Given the description of an element on the screen output the (x, y) to click on. 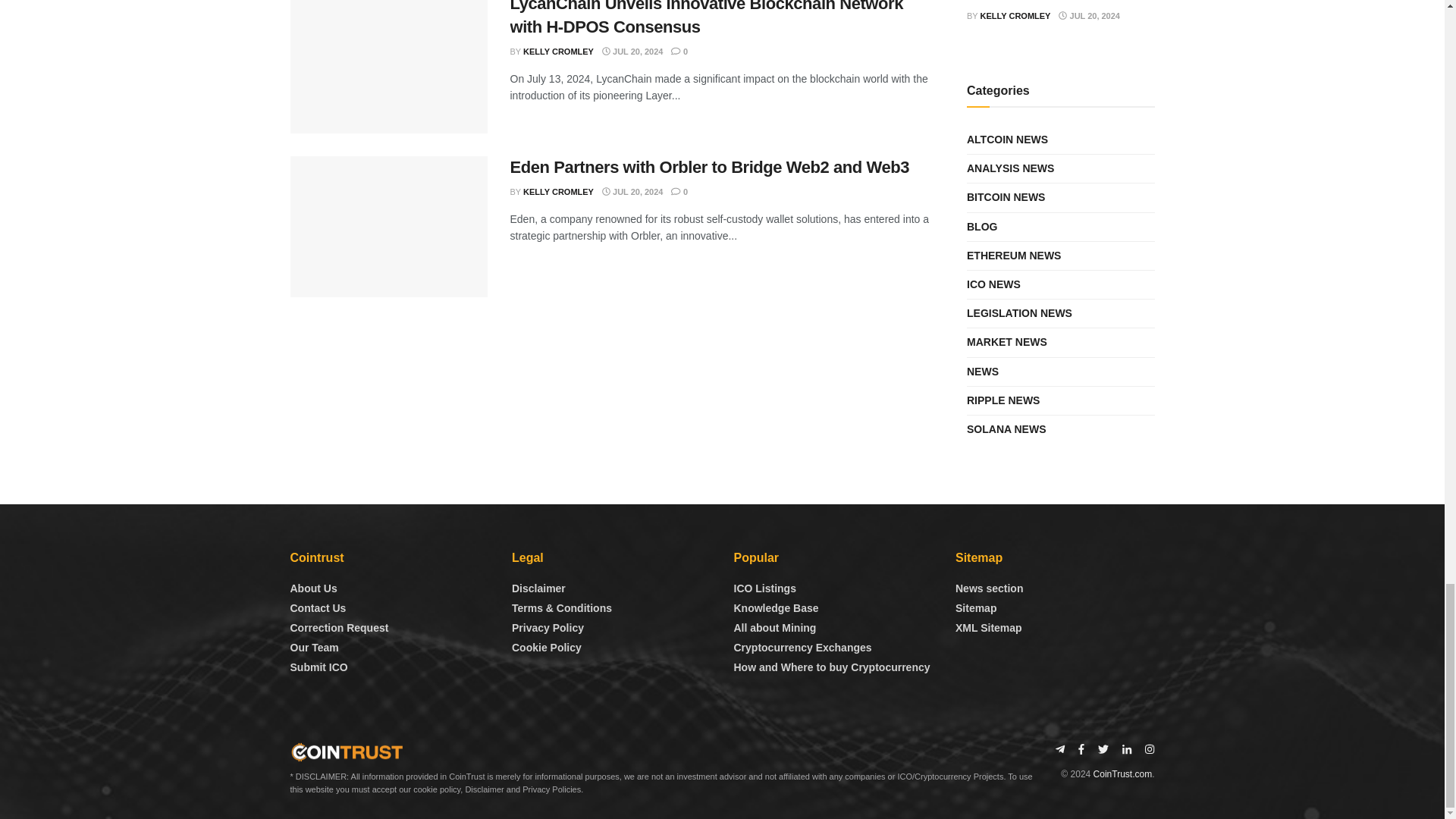
CoinTrust.com (1123, 774)
